Given the description of an element on the screen output the (x, y) to click on. 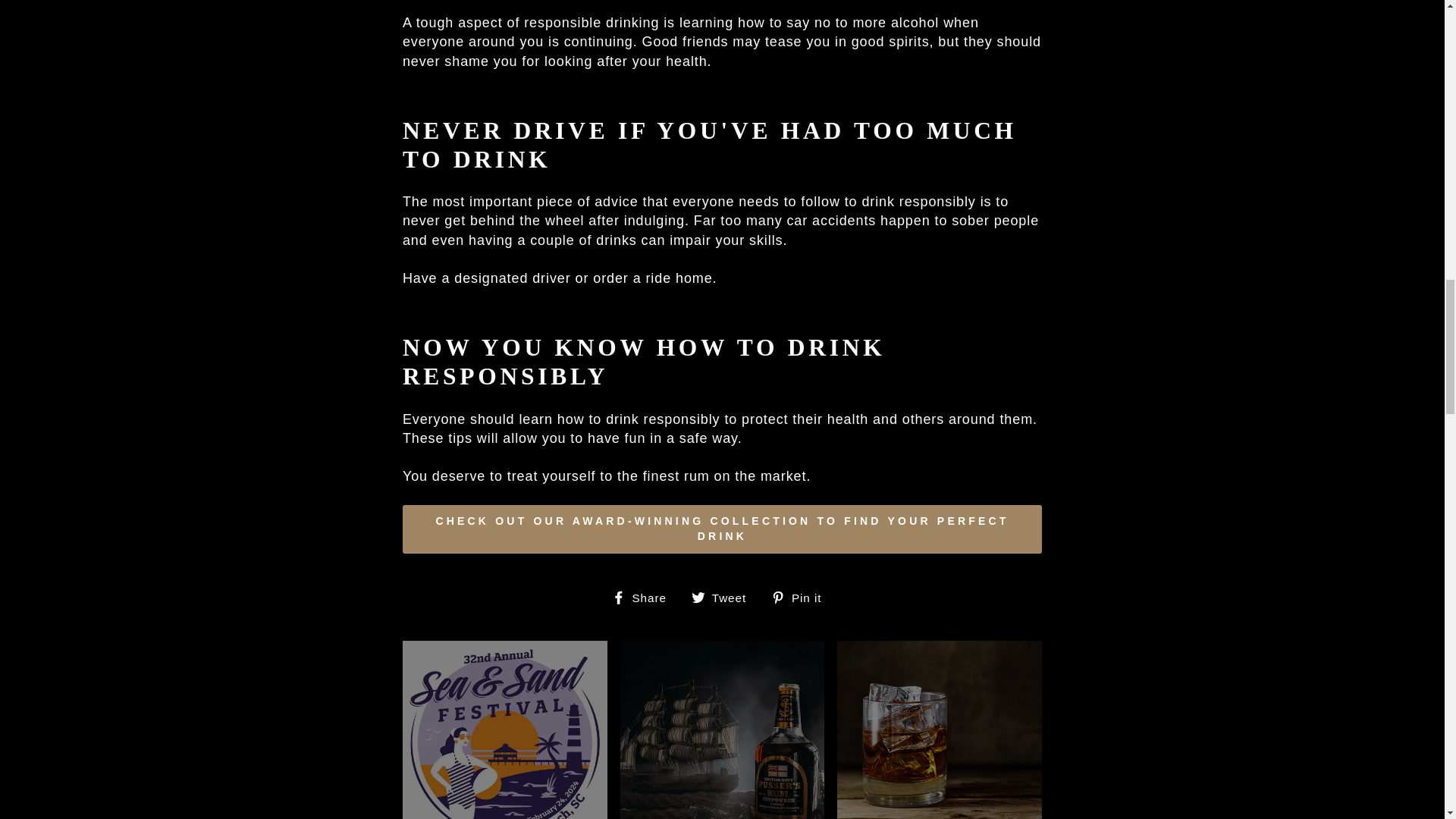
Pin on Pinterest (801, 597)
Tweet on Twitter (724, 597)
Share on Facebook (644, 597)
